Given the description of an element on the screen output the (x, y) to click on. 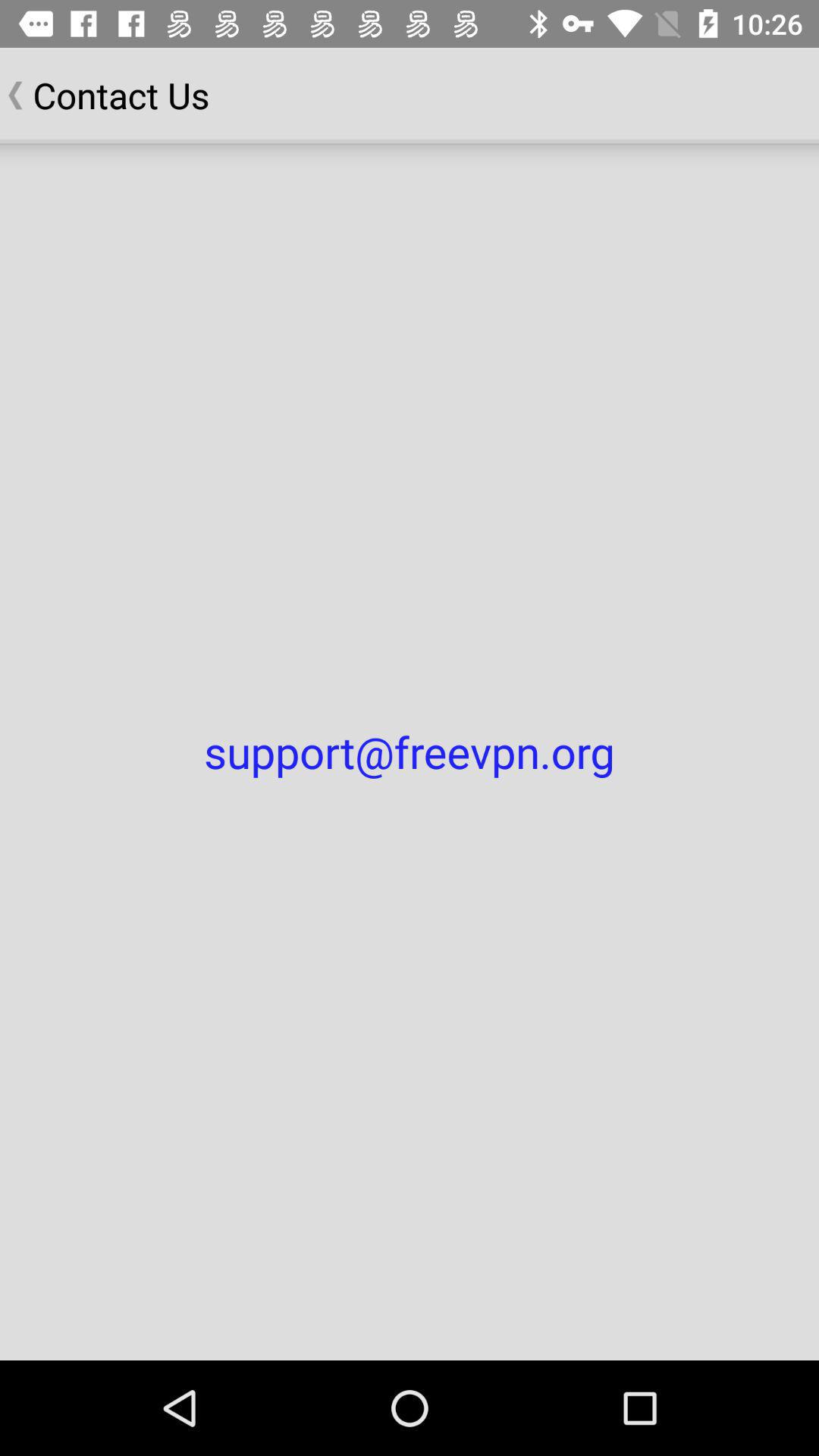
press the support@freevpn.org (409, 751)
